Given the description of an element on the screen output the (x, y) to click on. 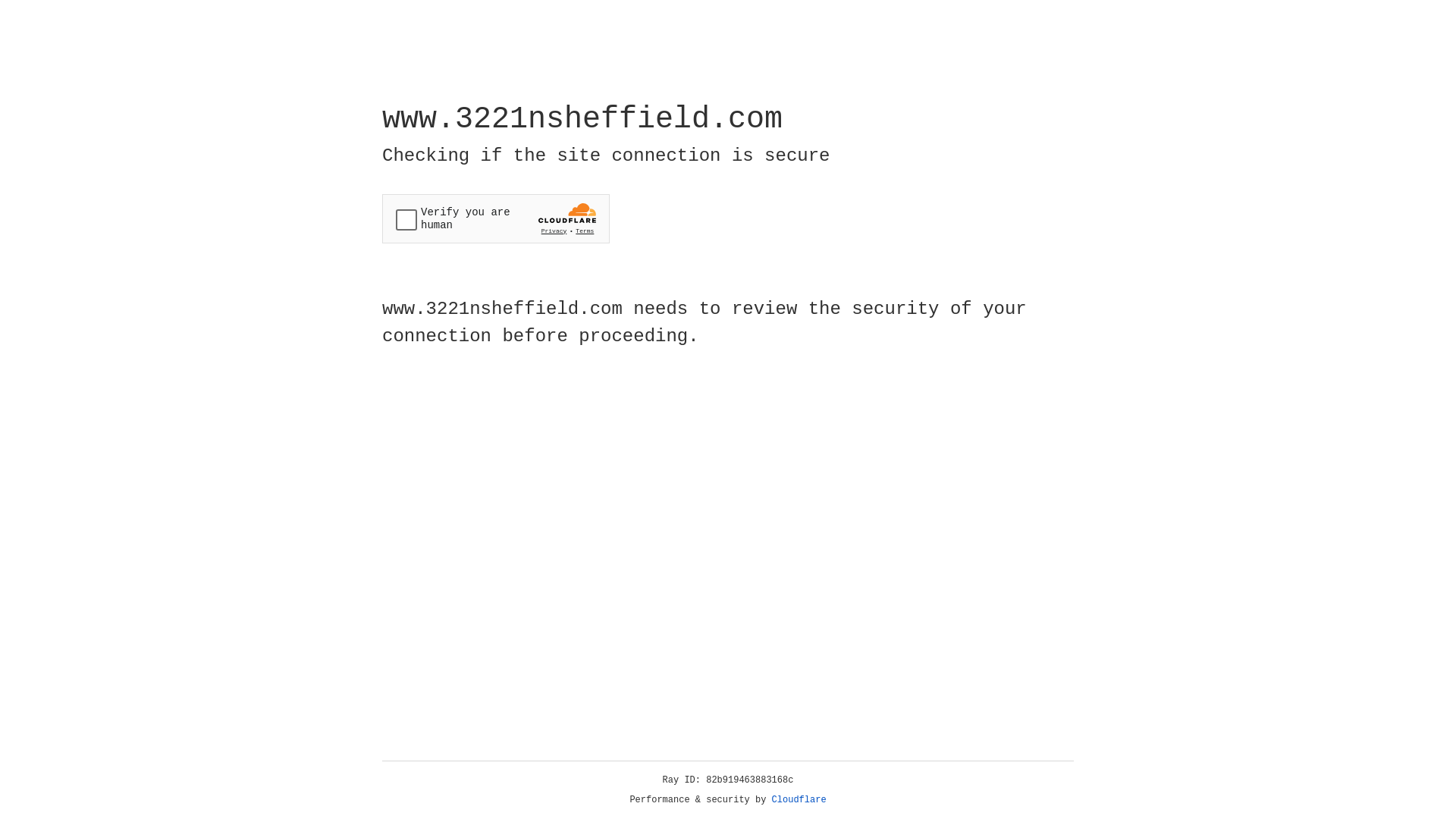
Widget containing a Cloudflare security challenge Element type: hover (495, 218)
Cloudflare Element type: text (798, 799)
